Given the description of an element on the screen output the (x, y) to click on. 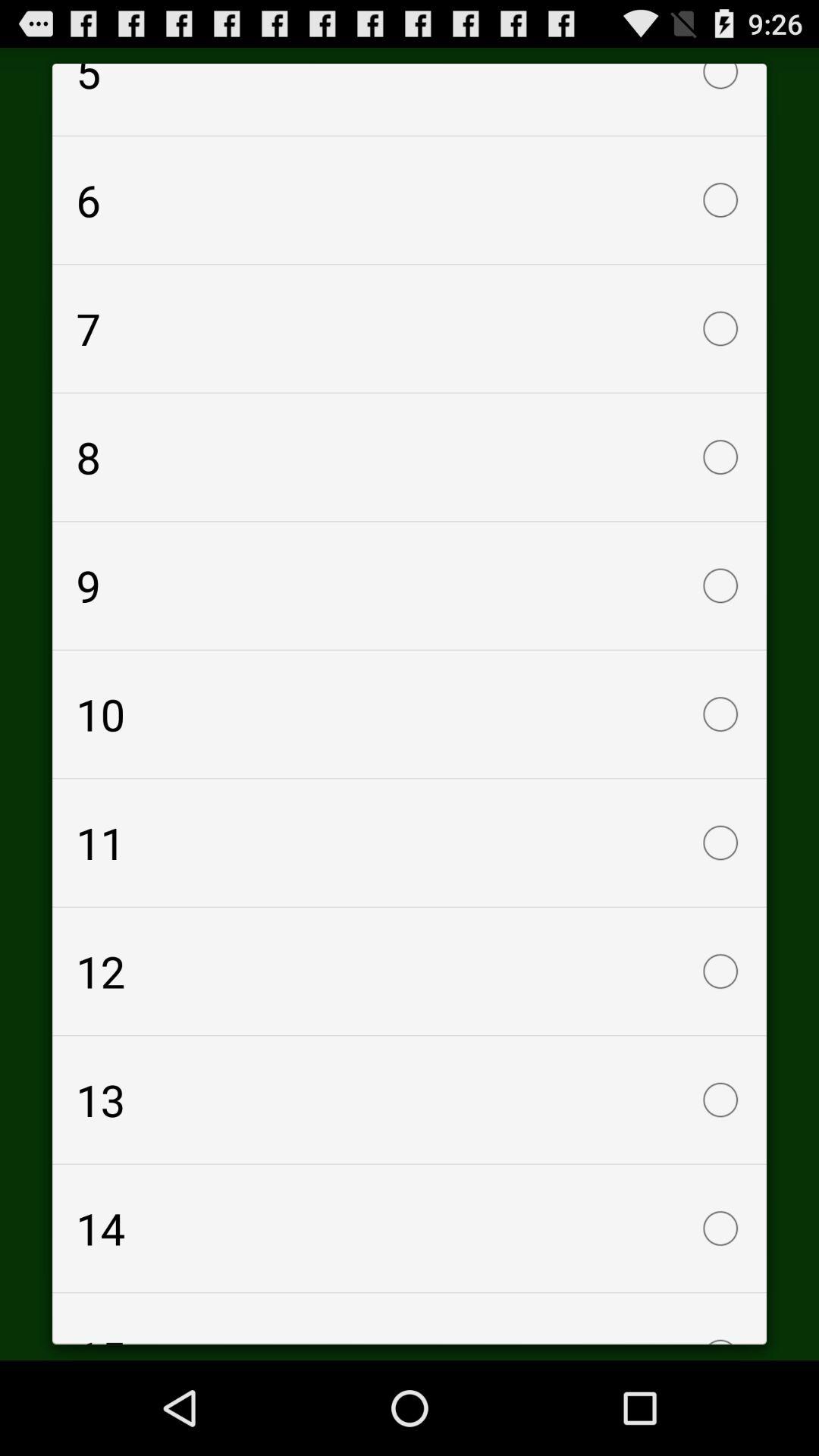
swipe to 8 icon (409, 456)
